Given the description of an element on the screen output the (x, y) to click on. 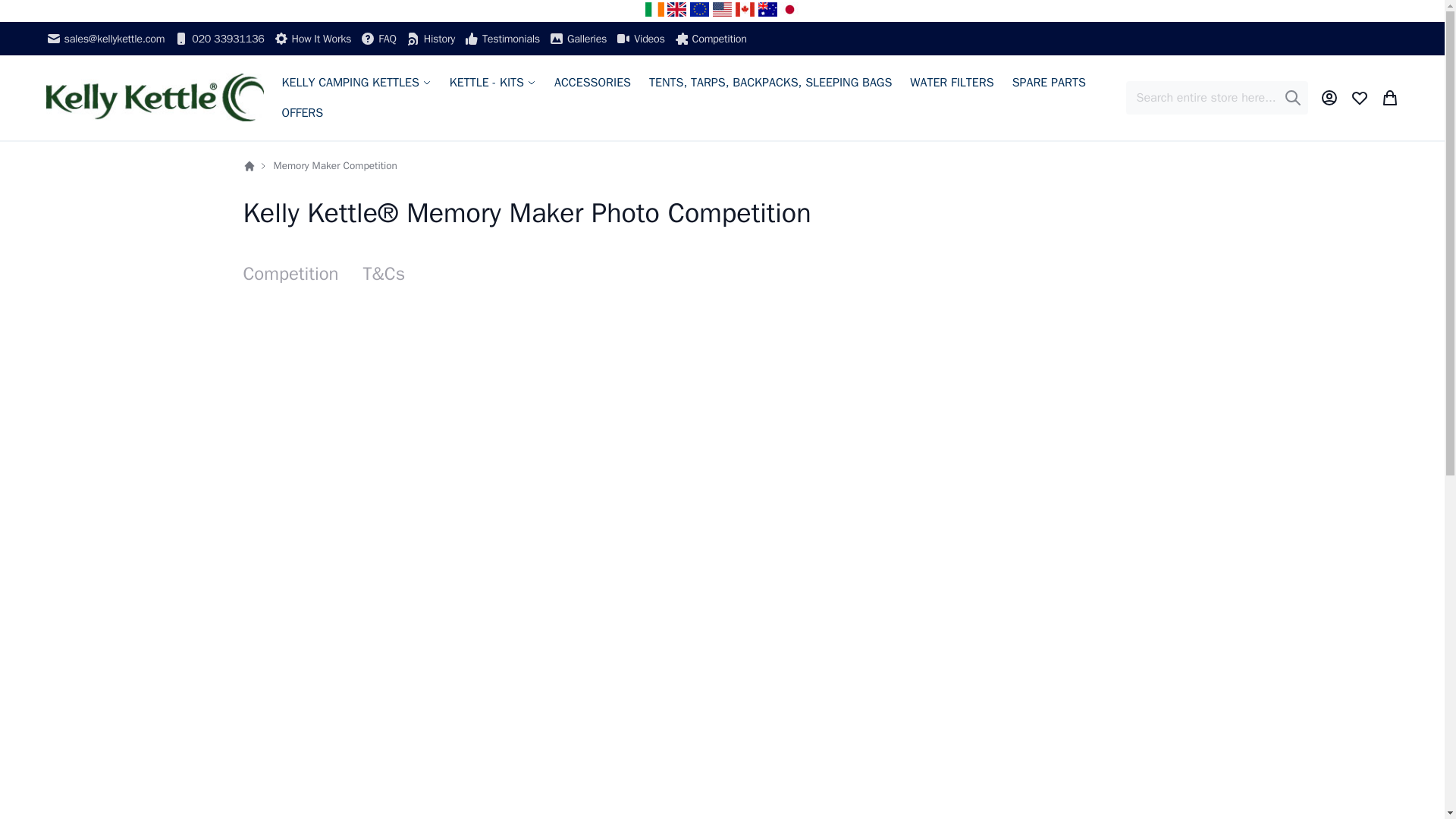
How It Works (312, 38)
Kelly Kettle Europe (699, 9)
Go to Home Page (248, 165)
Galleries (577, 38)
History (430, 38)
TENTS, TARPS, BACKPACKS, SLEEPING BAGS (770, 82)
Kelly Kettle Japan (789, 9)
Videos (639, 38)
Home (248, 165)
FAQ (377, 38)
OFFERS (303, 112)
My Cart (1388, 97)
Competition (710, 38)
Kelly Kettle Australia (767, 9)
Search (1291, 97)
